Given the description of an element on the screen output the (x, y) to click on. 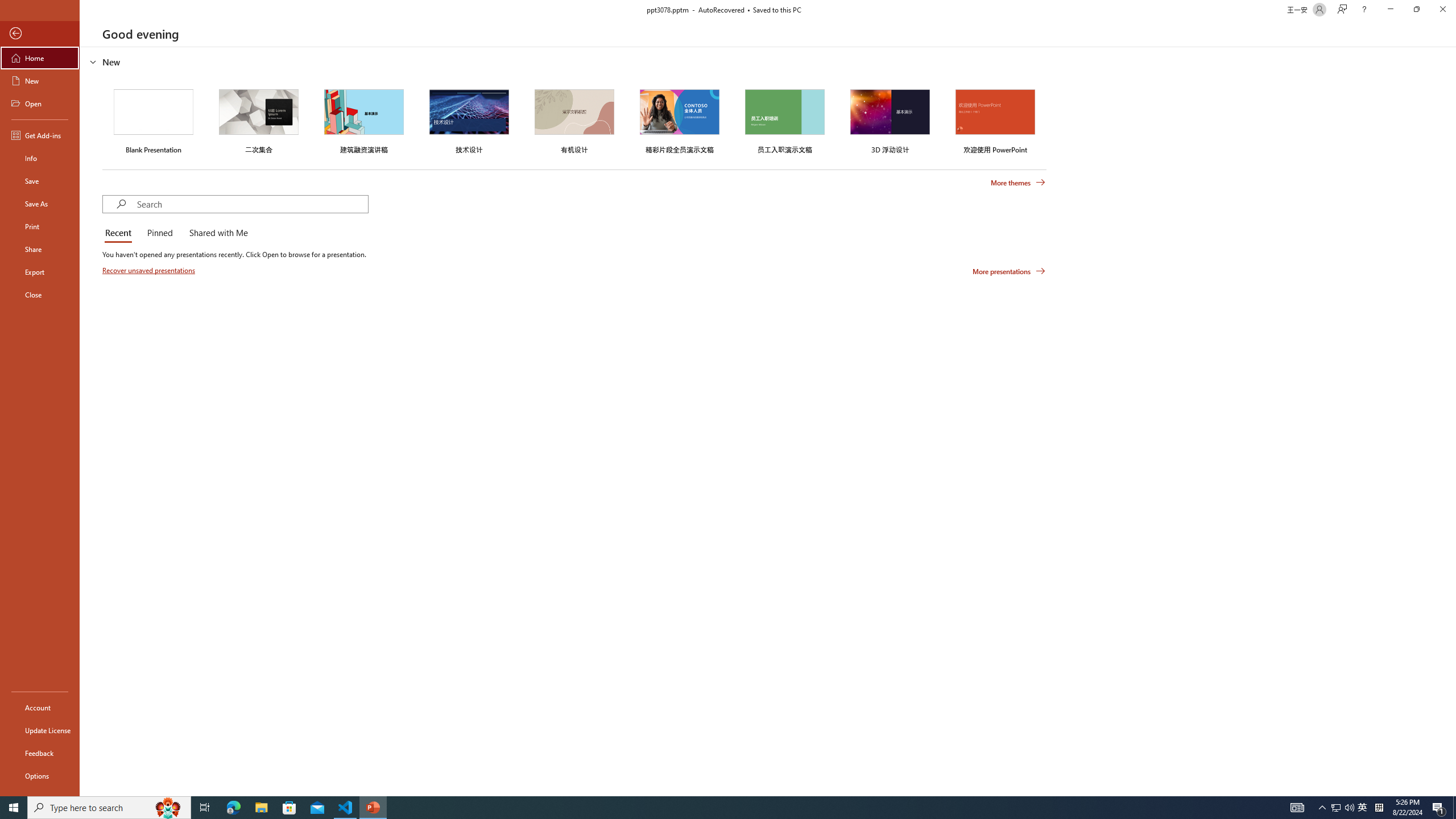
Shared with Me (215, 233)
Recent (119, 233)
Info (40, 157)
Class: NetUIScrollBar (1450, 421)
Account (40, 707)
